Given the description of an element on the screen output the (x, y) to click on. 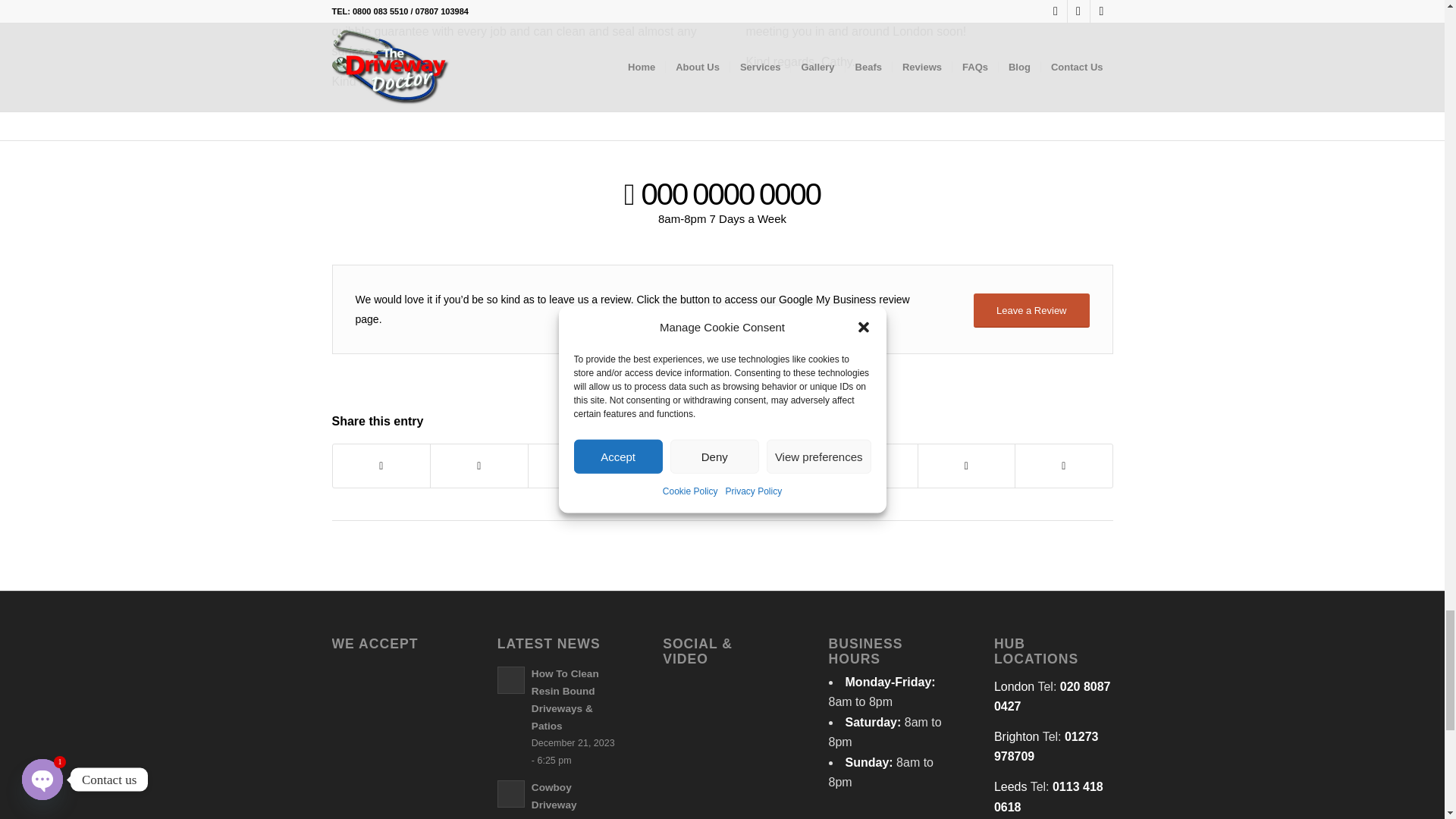
Leave a Review (1031, 310)
